Given the description of an element on the screen output the (x, y) to click on. 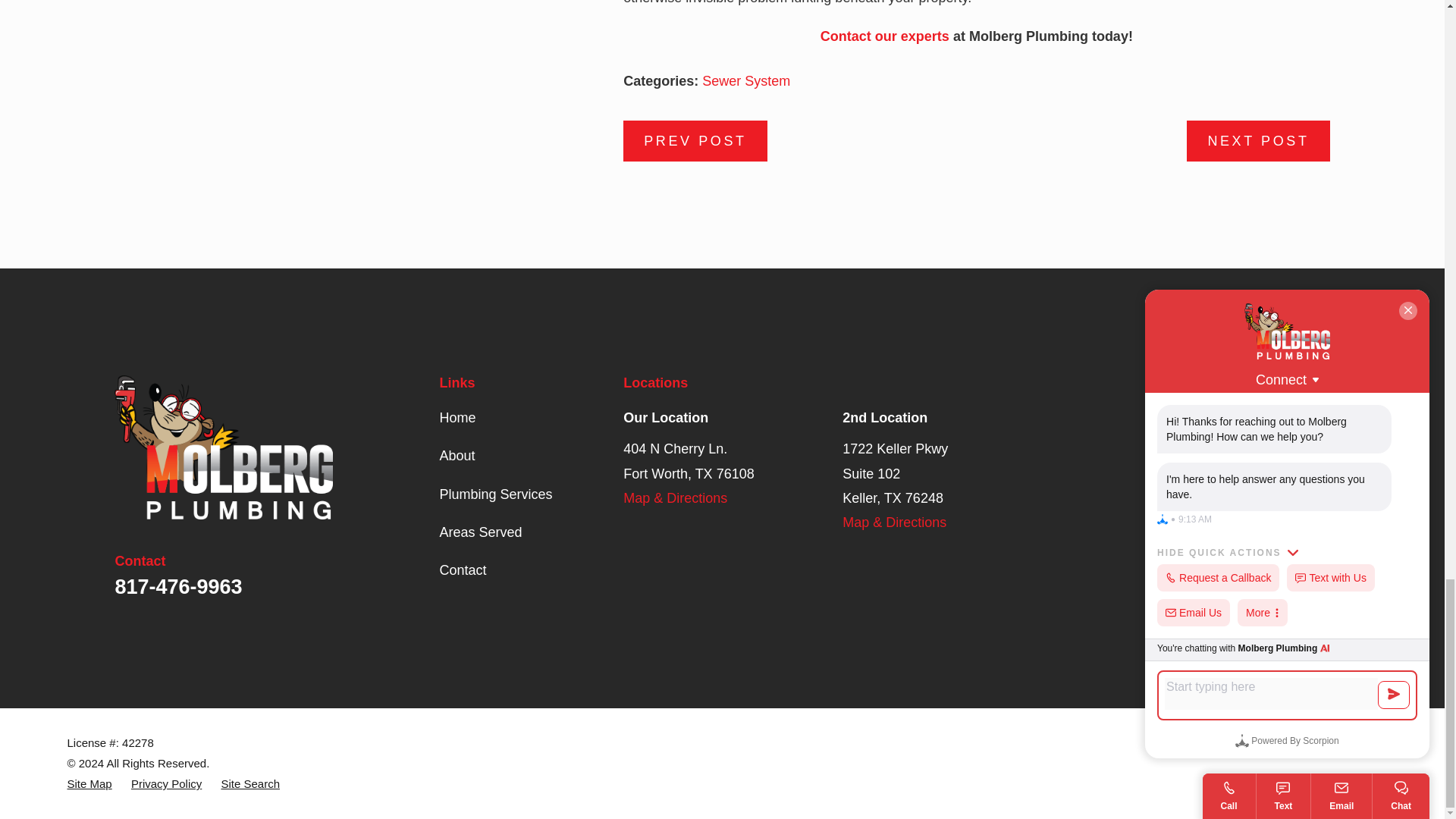
Google Business Profile (1156, 415)
Facebook (1195, 415)
Home (224, 447)
